Given the description of an element on the screen output the (x, y) to click on. 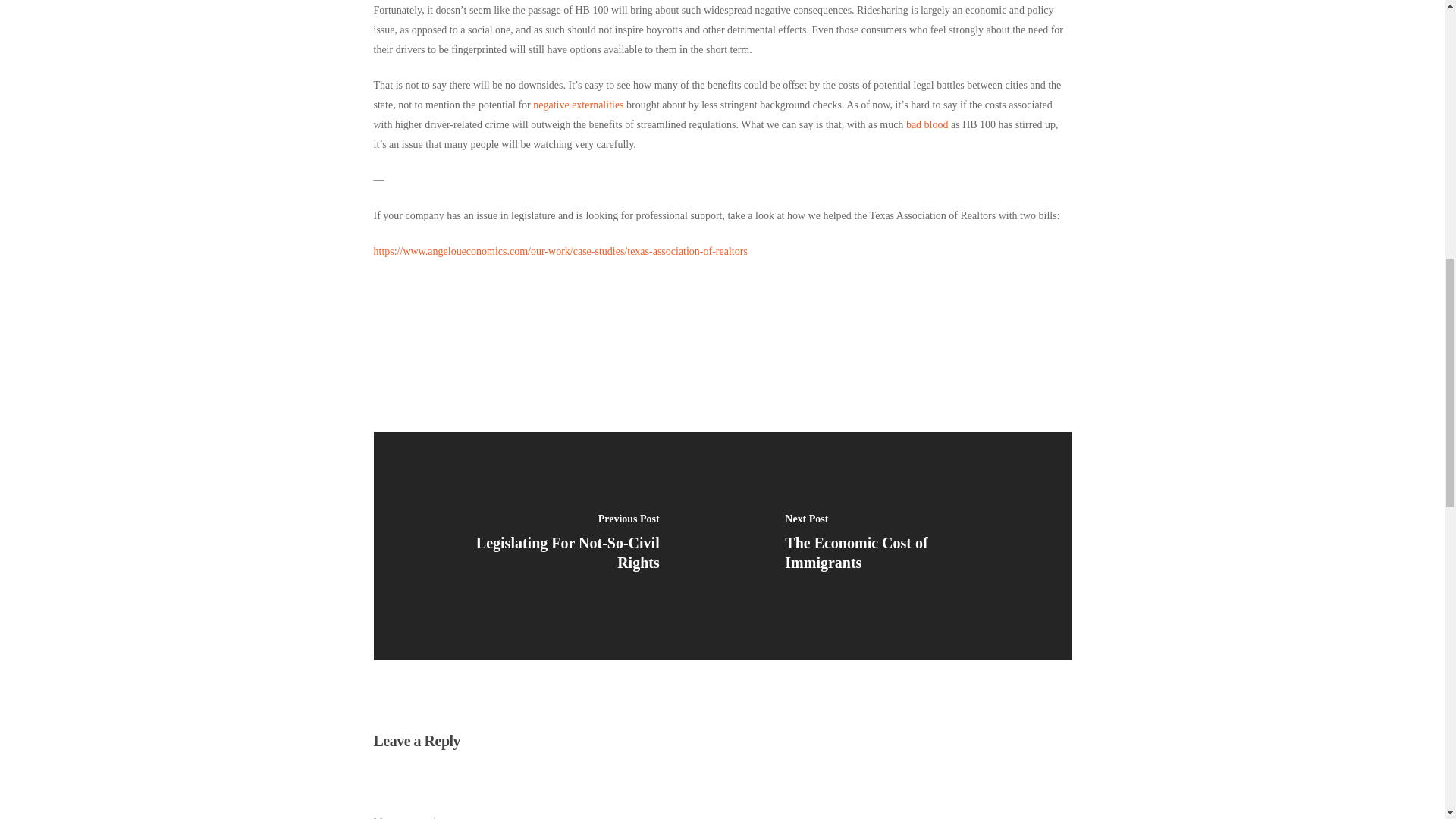
bad blood (927, 124)
negative externalities (577, 104)
